Given the description of an element on the screen output the (x, y) to click on. 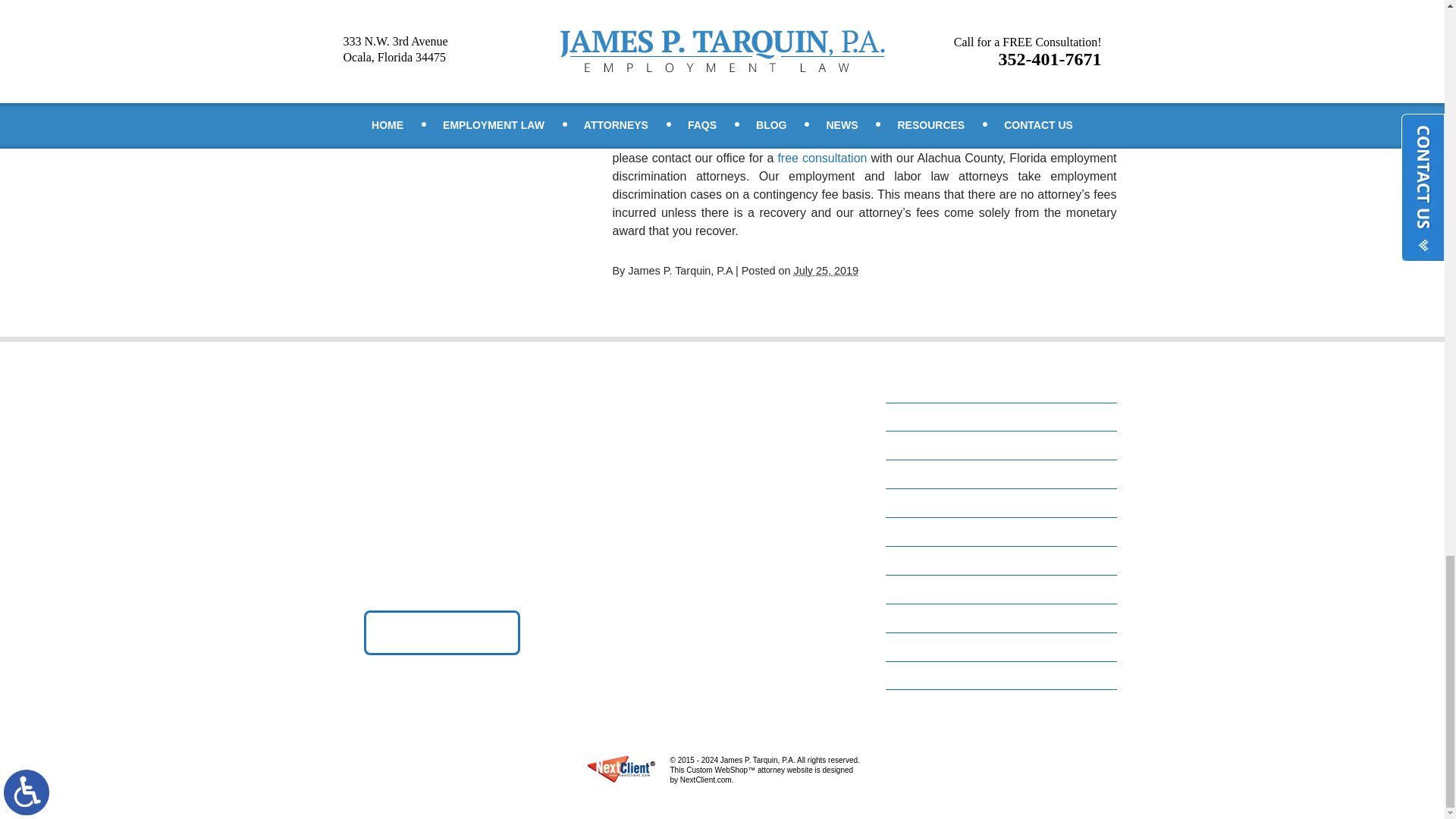
2019-07-25T17:41:48-0700 (826, 270)
